Given the description of an element on the screen output the (x, y) to click on. 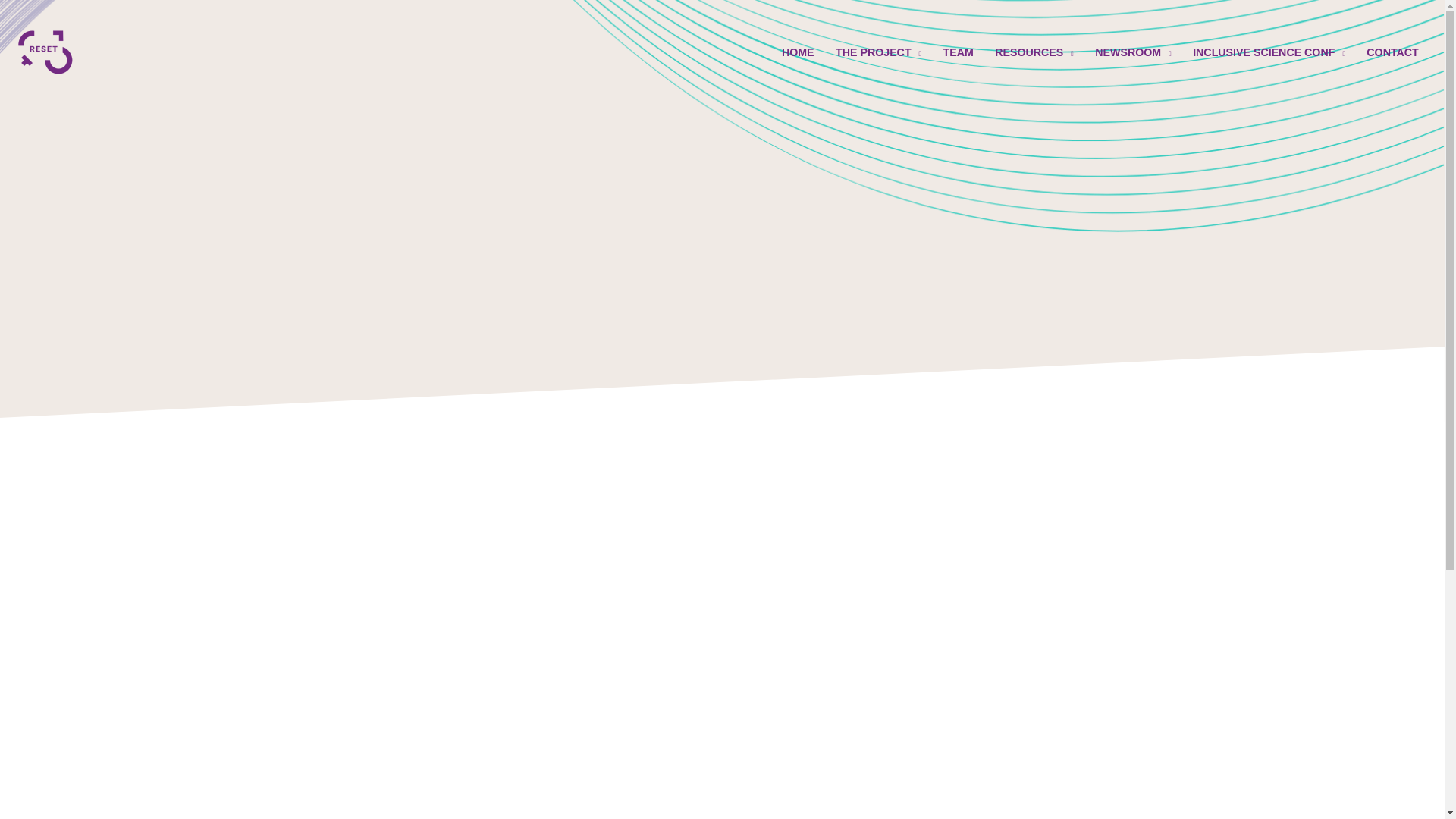
CONTACT (1392, 51)
INCLUSIVE SCIENCE CONF (1268, 51)
NEWSROOM (1133, 51)
RESOURCES (1034, 51)
TEAM (957, 51)
HOME (798, 51)
THE PROJECT (879, 51)
